Given the description of an element on the screen output the (x, y) to click on. 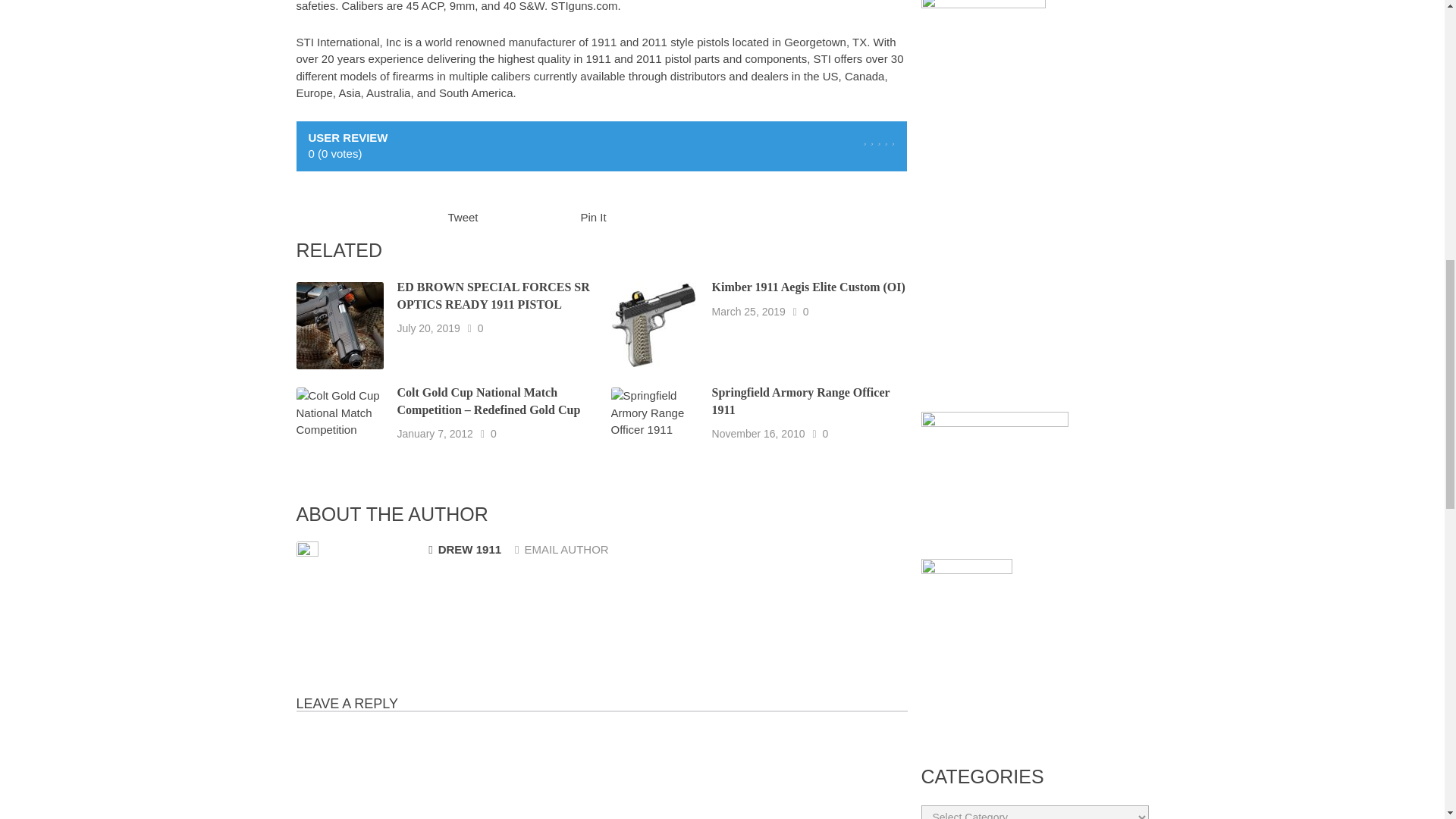
ED BROWN SPECIAL FORCES SR OPTICS READY 1911 PISTOL (493, 295)
0 (493, 433)
STIguns.com (583, 6)
Tweet (461, 216)
Pin It (593, 216)
